Given the description of an element on the screen output the (x, y) to click on. 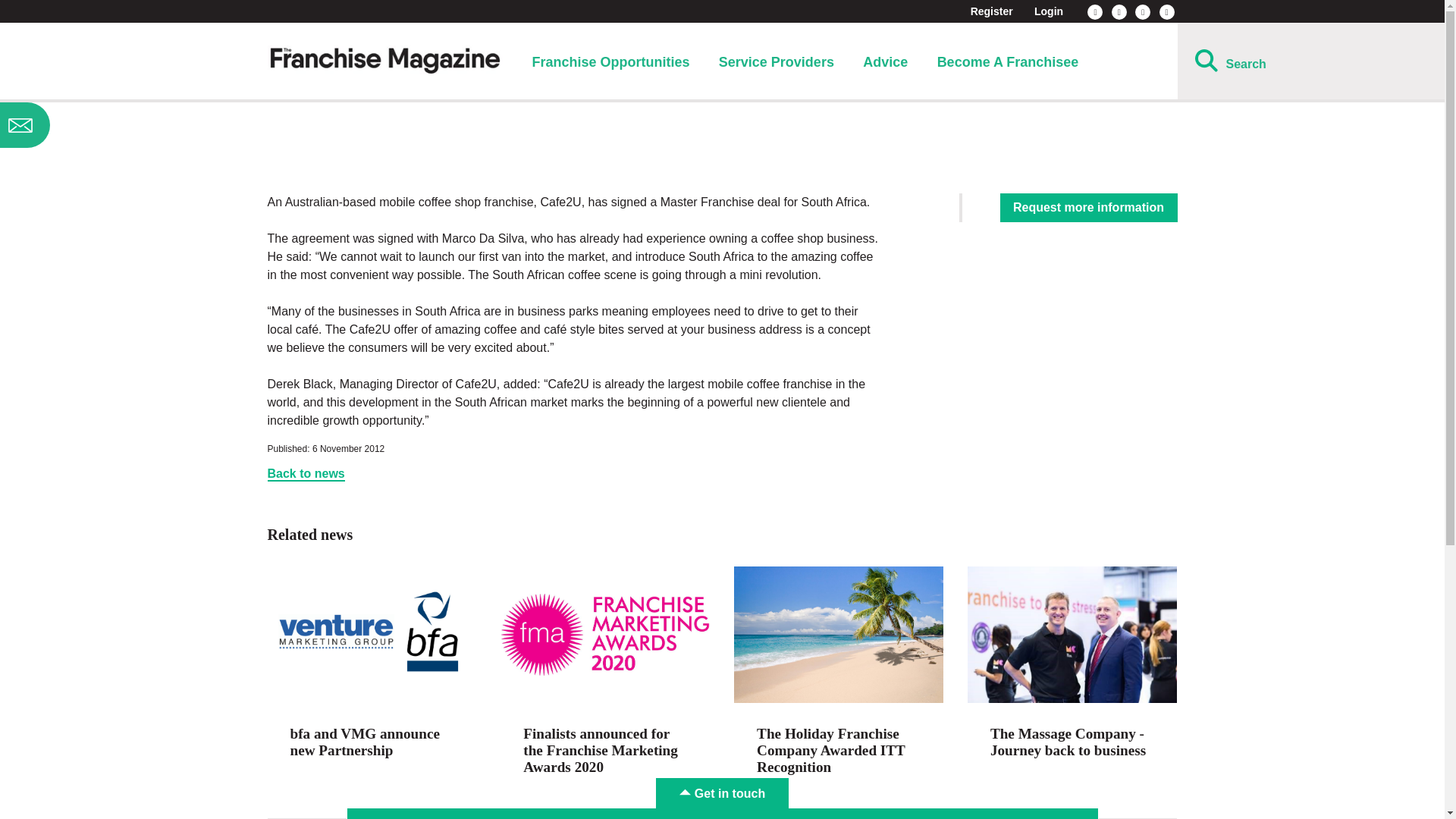
Service Providers (776, 61)
Register (992, 10)
Become A Franchisee (1007, 61)
Service Providers (776, 61)
SignupModal (120, 125)
Sign up to the newsletter (120, 125)
Login (1047, 10)
Franchise Opportunities (609, 61)
Login (1047, 10)
Advice (885, 61)
